Given the description of an element on the screen output the (x, y) to click on. 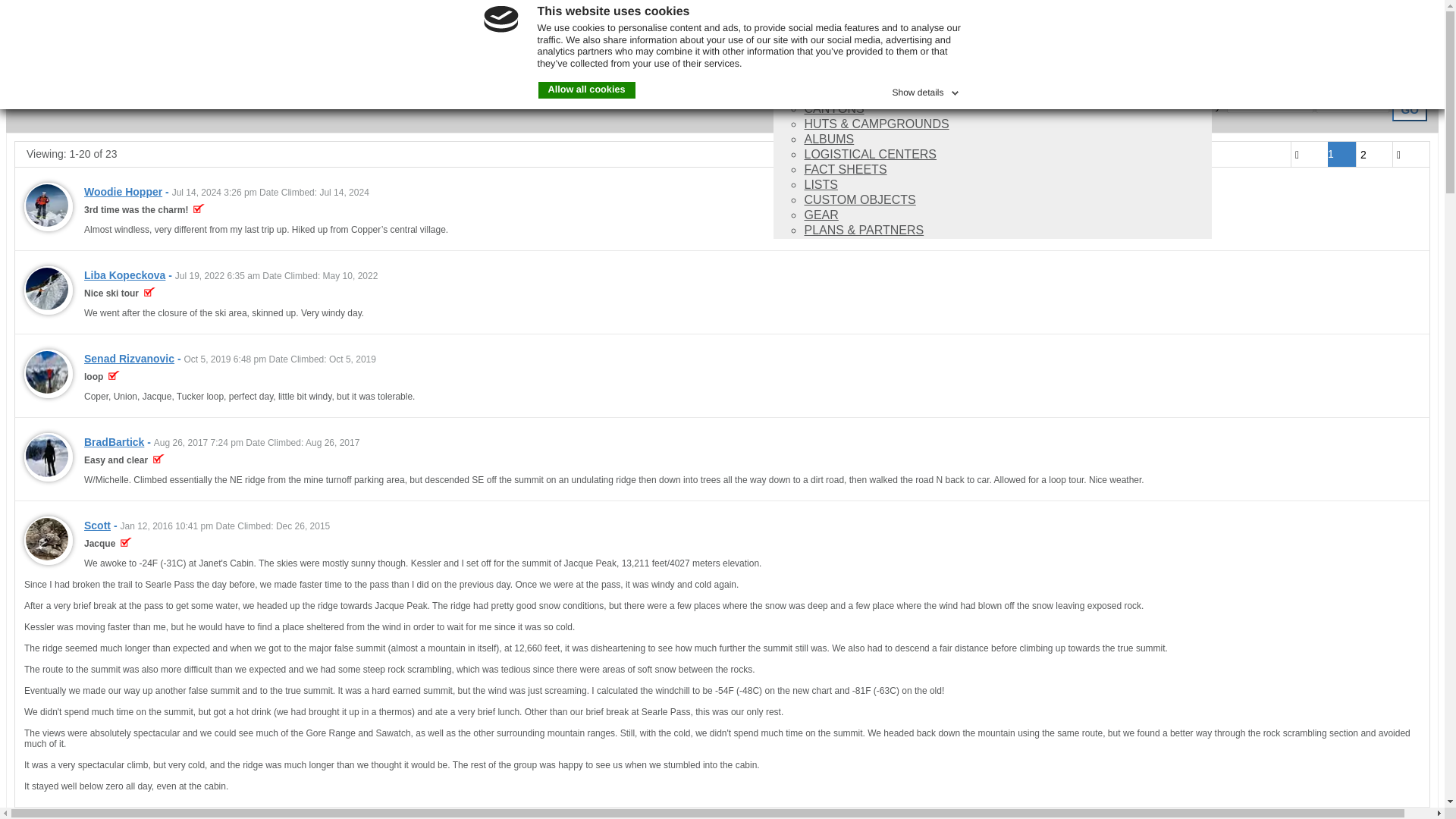
 Go  (1408, 109)
Allow all cookies (586, 89)
Show details (925, 89)
